Given the description of an element on the screen output the (x, y) to click on. 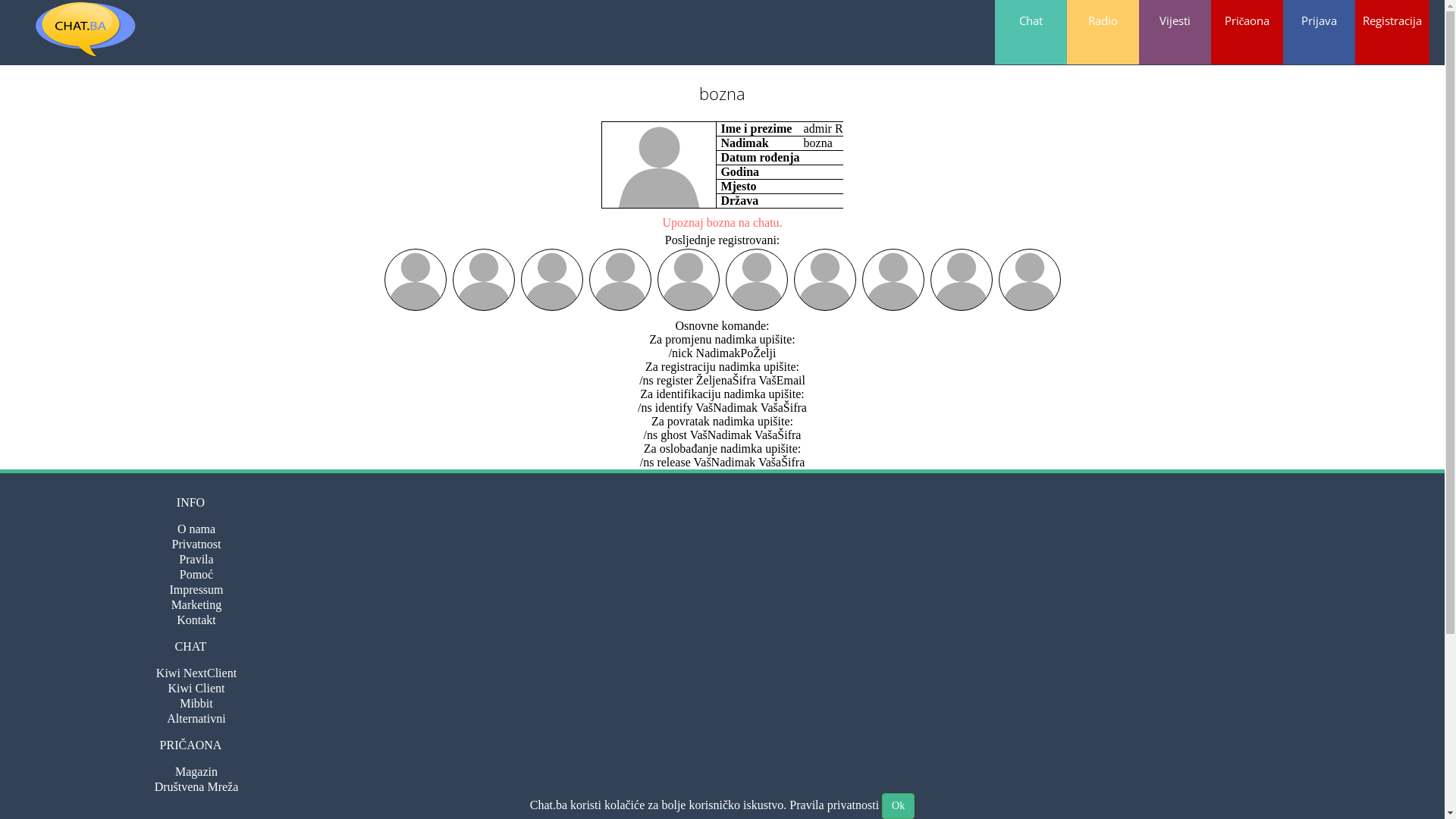
Mibbit Element type: text (196, 702)
Privatnost Element type: text (196, 543)
Danco Element type: hover (619, 279)
Prijava Element type: text (1319, 32)
Denson Element type: hover (824, 279)
Alternativni Element type: text (195, 718)
chouchou Element type: hover (1028, 279)
Kiwi NextClient Element type: text (196, 672)
Impressum Element type: text (195, 589)
Vijesti Element type: text (1175, 32)
MISTERJACK  Element type: hover (414, 279)
DenisTz Element type: hover (551, 279)
Mrki Element type: hover (960, 279)
Kamel Element type: hover (892, 279)
Radio Element type: text (1102, 32)
Kontakt Element type: text (196, 619)
Rona22 Element type: hover (755, 279)
Marketing Element type: text (196, 604)
Kiwi Client Element type: text (195, 687)
O nama Element type: text (196, 528)
Pravila Element type: text (195, 558)
Pravila privatnosti Element type: text (833, 804)
Registracija Element type: text (1392, 32)
Upoznaj bozna na chatu. Element type: text (721, 222)
Forum Element type: text (196, 801)
Chat Element type: text (1030, 32)
Magazin Element type: text (196, 771)
Ivan Element type: hover (482, 279)
Deen Element type: hover (687, 279)
